Given the description of an element on the screen output the (x, y) to click on. 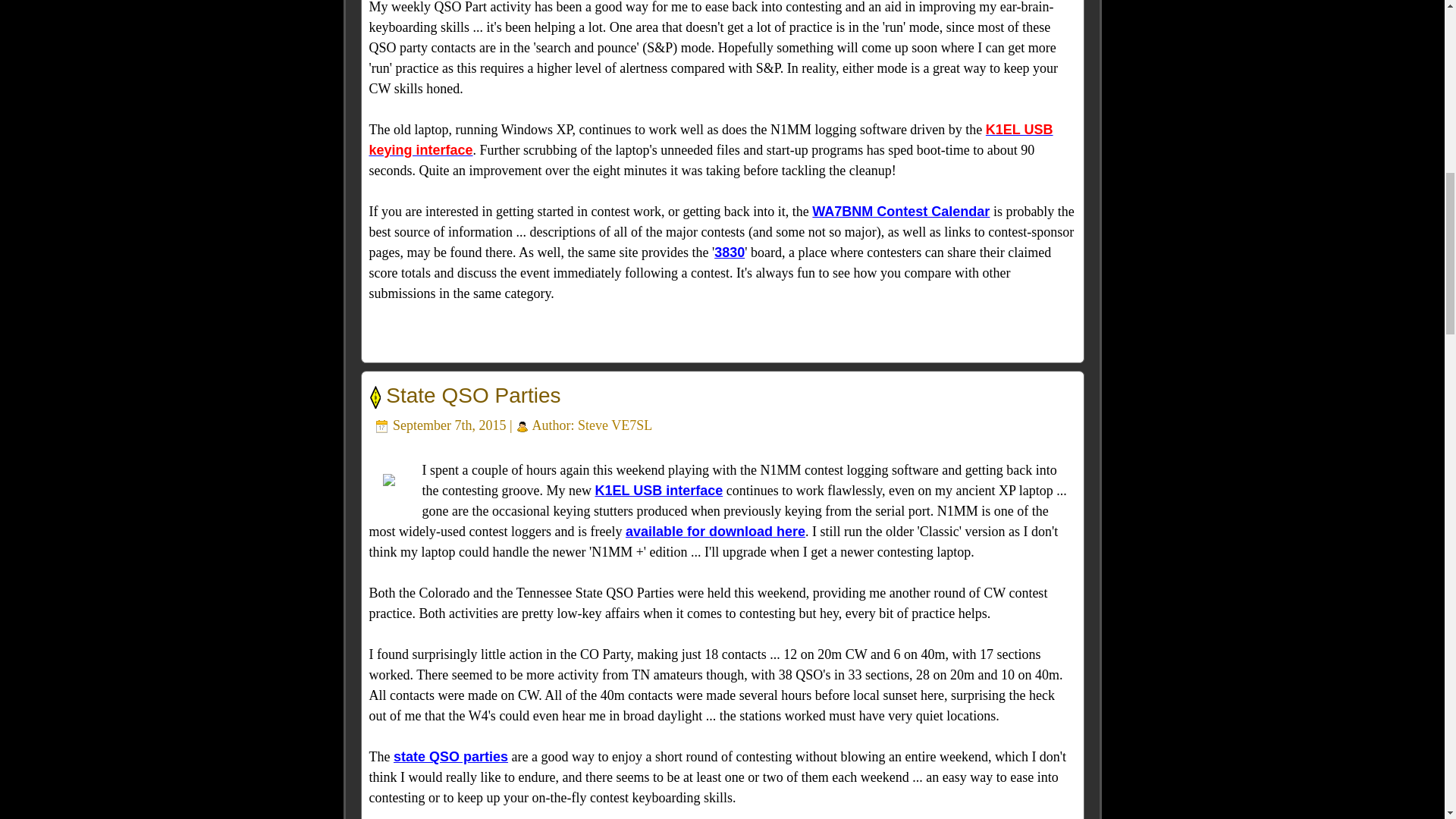
WA7BNM Contest Calendar (901, 211)
Steve VE7SL (615, 425)
Permanent Link to State QSO Parties (472, 395)
K1EL USB keying interface (710, 140)
K1EL USB interface (658, 490)
State QSO Parties (472, 395)
Posts by Steve VE7SL (615, 425)
3830 (729, 252)
available for download here (715, 531)
state QSO parties (450, 756)
